Given the description of an element on the screen output the (x, y) to click on. 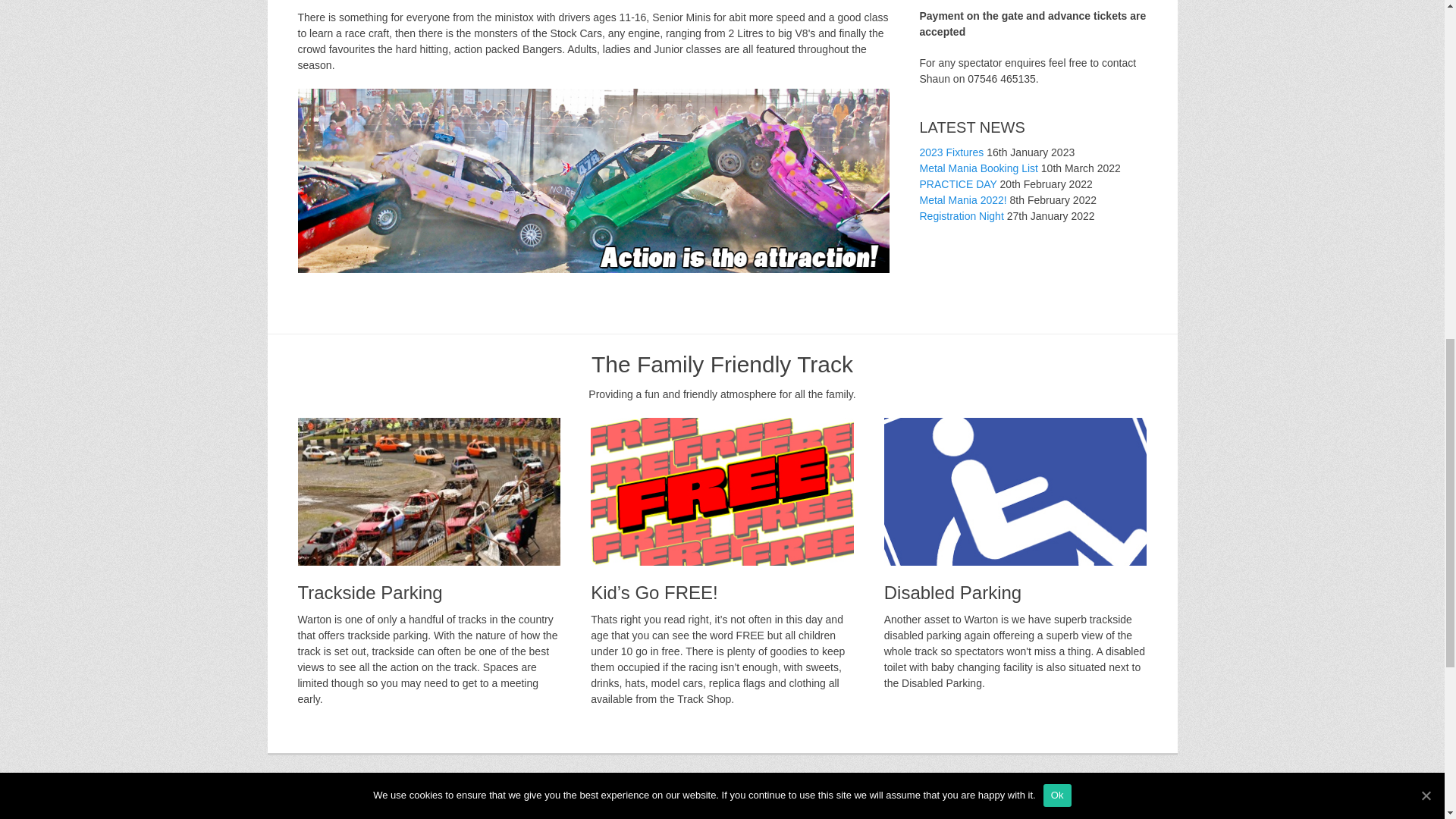
Trackside Parking (428, 491)
Warton Stock Car Club Banger Action (592, 180)
